Given the description of an element on the screen output the (x, y) to click on. 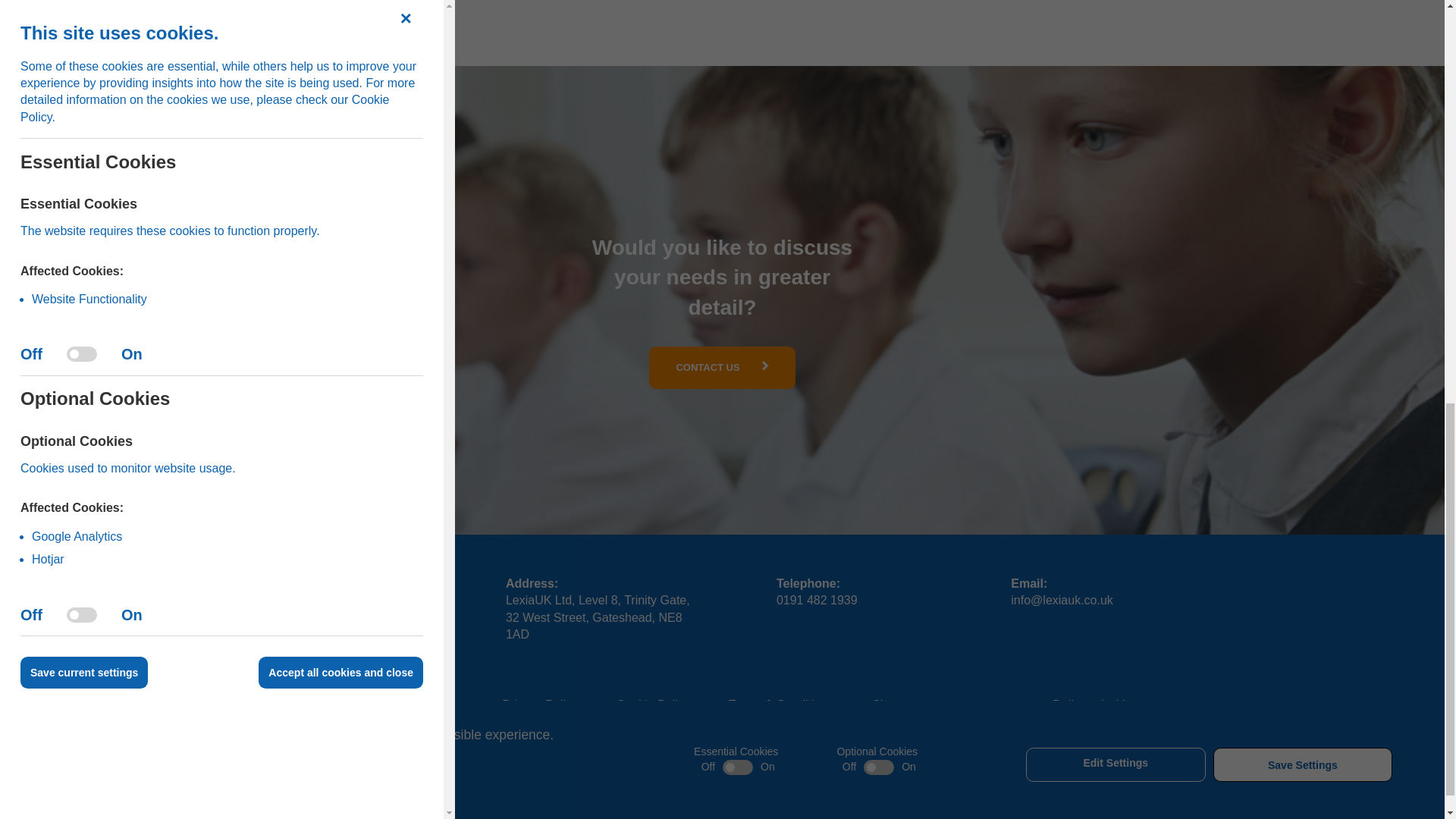
CONTACT US (721, 367)
Follow LexiaUK on YouTube (822, 783)
Privacy Policy (540, 704)
Visit the Cargo Creative website (1154, 706)
Contact Us (721, 367)
Cookie Policy (652, 704)
Call us on 0191 482 1939 (816, 599)
0191 482 1939 (816, 599)
Follow LexiaUK on Instagram (773, 783)
Follow LexiaUK on Twitter (672, 783)
Email LexiaUK (1061, 599)
Connect with LexiaUK on LinkedIn (722, 783)
Like LexiaUK on Facebook (623, 783)
